Given the description of an element on the screen output the (x, y) to click on. 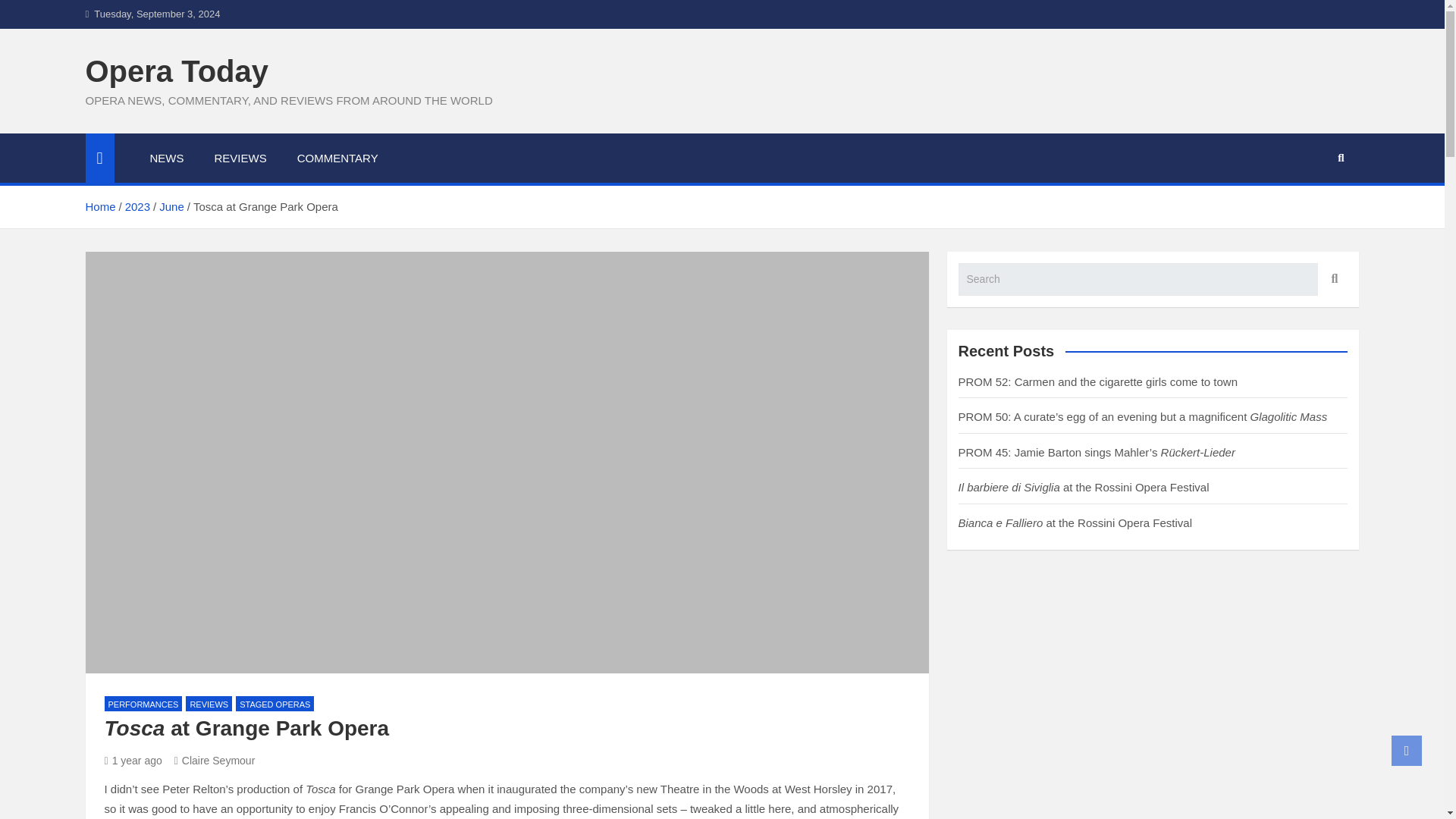
Bianca e Falliero at the Rossini Opera Festival (1075, 522)
2023 (137, 205)
Claire Seymour (215, 760)
PROM 52: Carmen and the cigarette girls come to town (1098, 381)
Il barbiere di Siviglia at the Rossini Opera Festival (1083, 486)
1 year ago (132, 760)
REVIEWS (239, 158)
COMMENTARY (337, 158)
Opera Today (175, 70)
Home (99, 205)
